Given the description of an element on the screen output the (x, y) to click on. 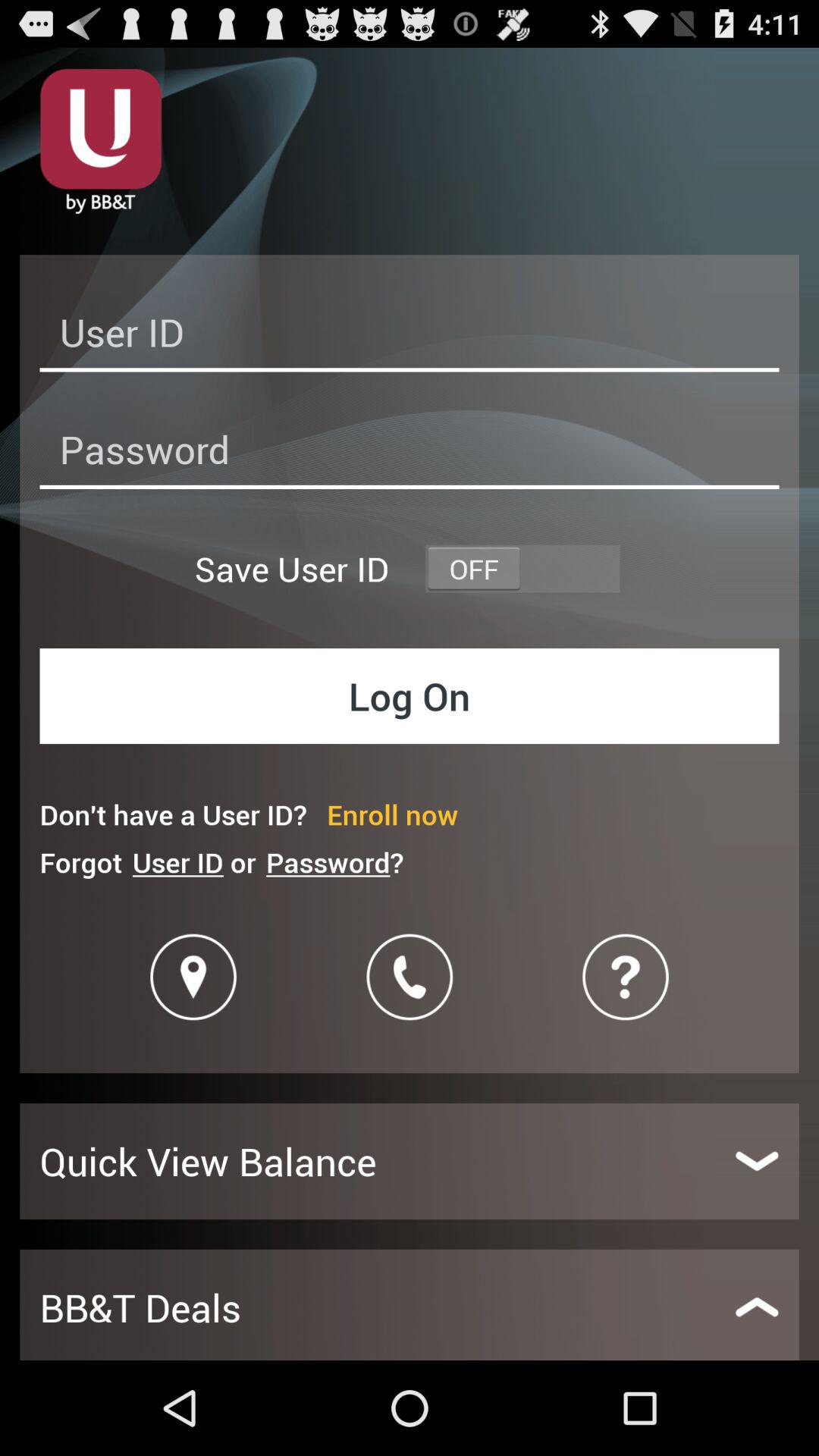
tap item to the right of the don t have item (392, 814)
